Given the description of an element on the screen output the (x, y) to click on. 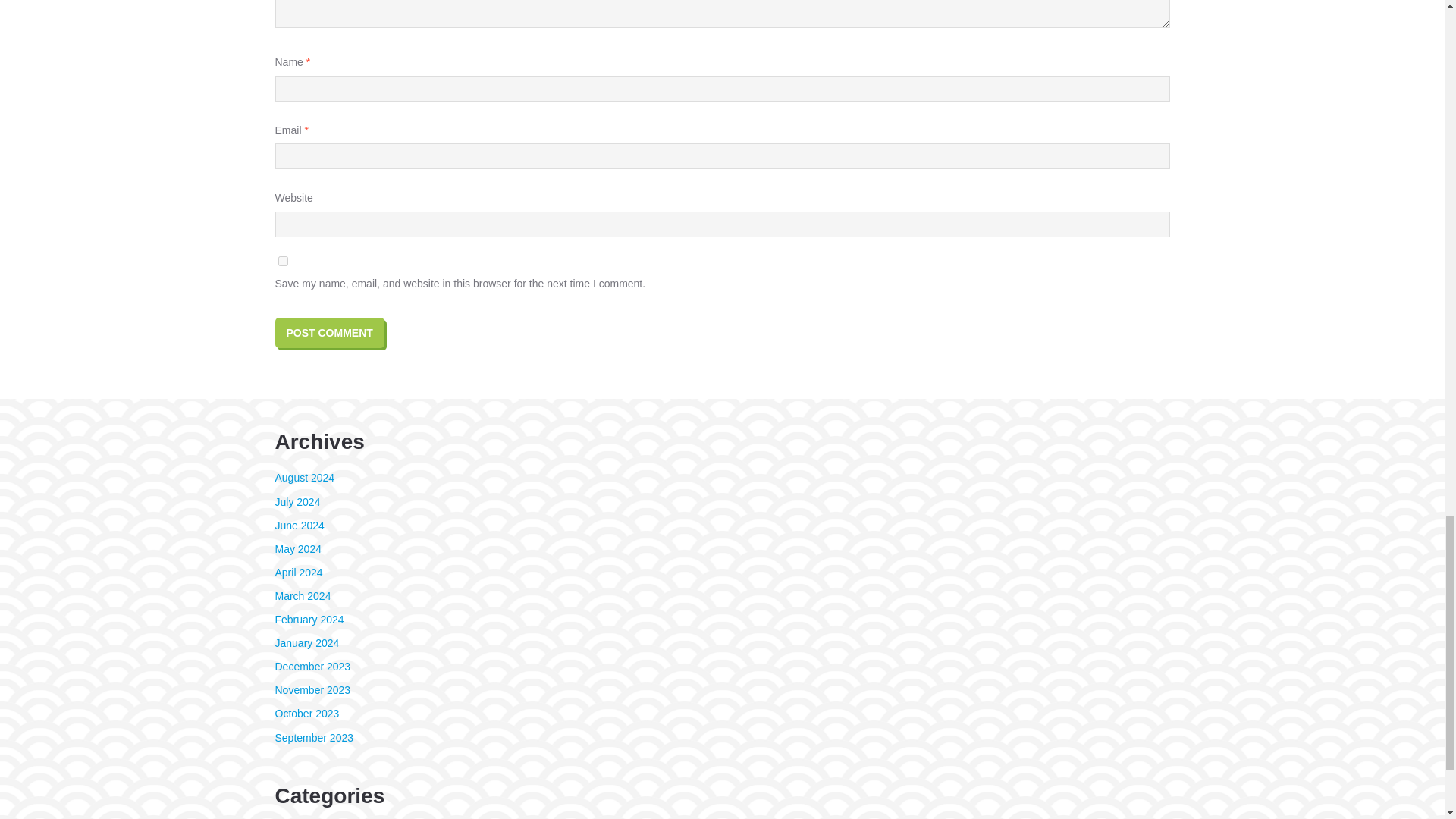
June 2024 (299, 525)
Post Comment (329, 331)
May 2024 (297, 548)
January 2024 (307, 643)
yes (282, 261)
November 2023 (312, 689)
July 2024 (297, 501)
April 2024 (298, 572)
December 2023 (312, 666)
February 2024 (309, 619)
October 2023 (307, 713)
August 2024 (304, 477)
September 2023 (314, 737)
Post Comment (329, 331)
March 2024 (302, 595)
